Given the description of an element on the screen output the (x, y) to click on. 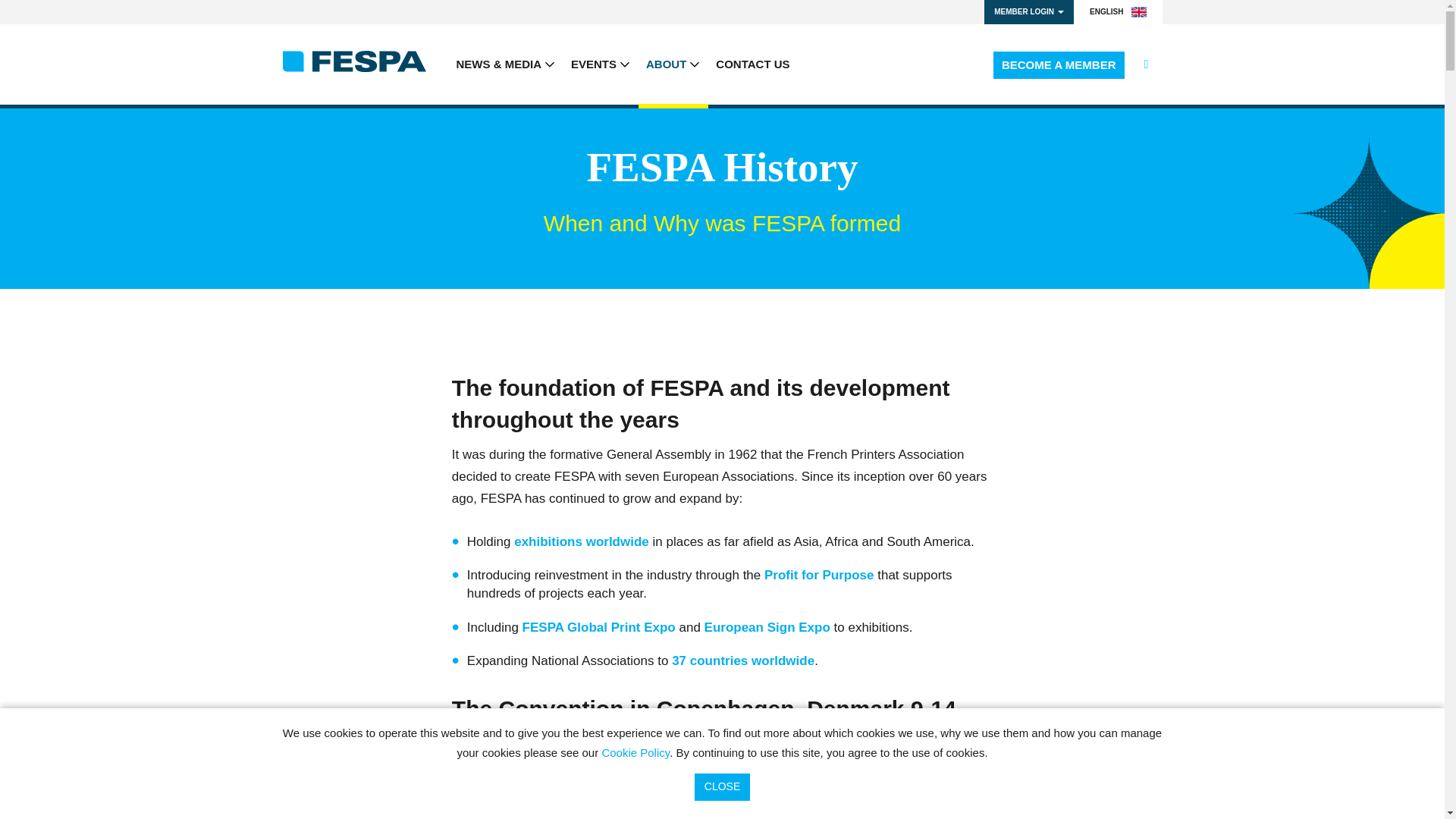
ABOUT (673, 63)
EVENTS (601, 63)
ENGLISH (1117, 12)
MEMBER LOGIN (1029, 12)
